Given the description of an element on the screen output the (x, y) to click on. 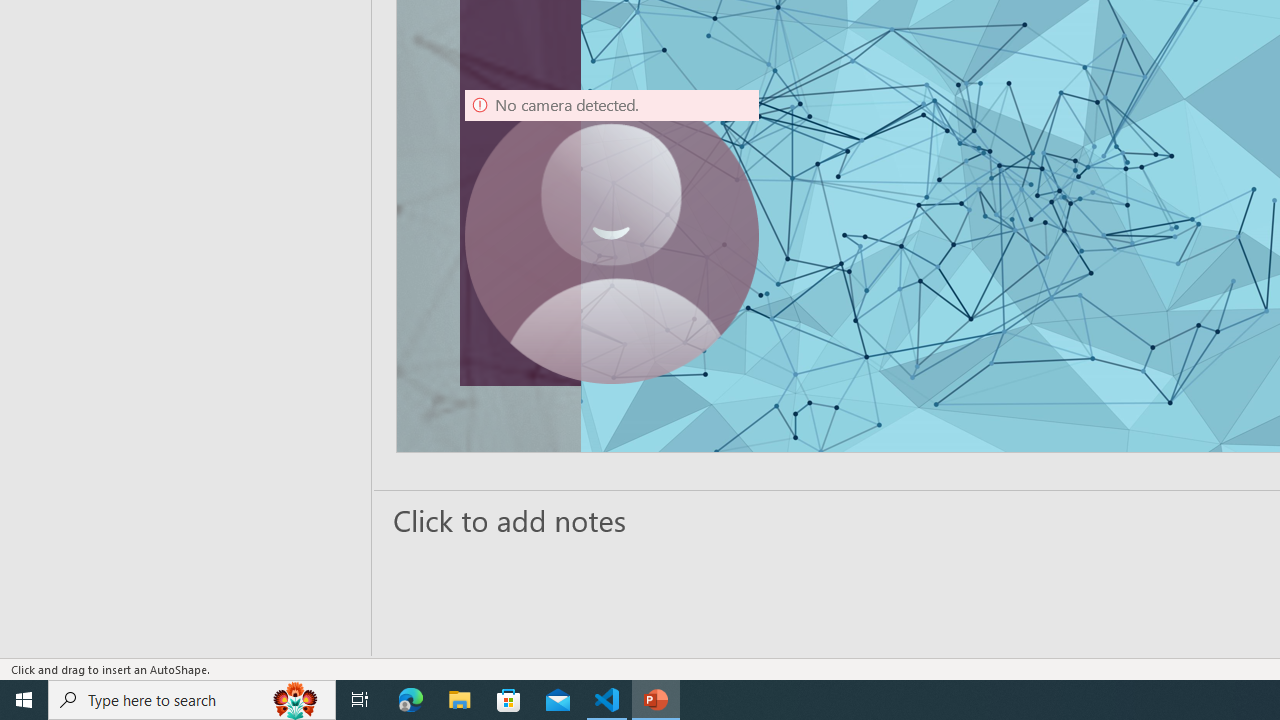
Camera 9, No camera detected. (612, 236)
